Given the description of an element on the screen output the (x, y) to click on. 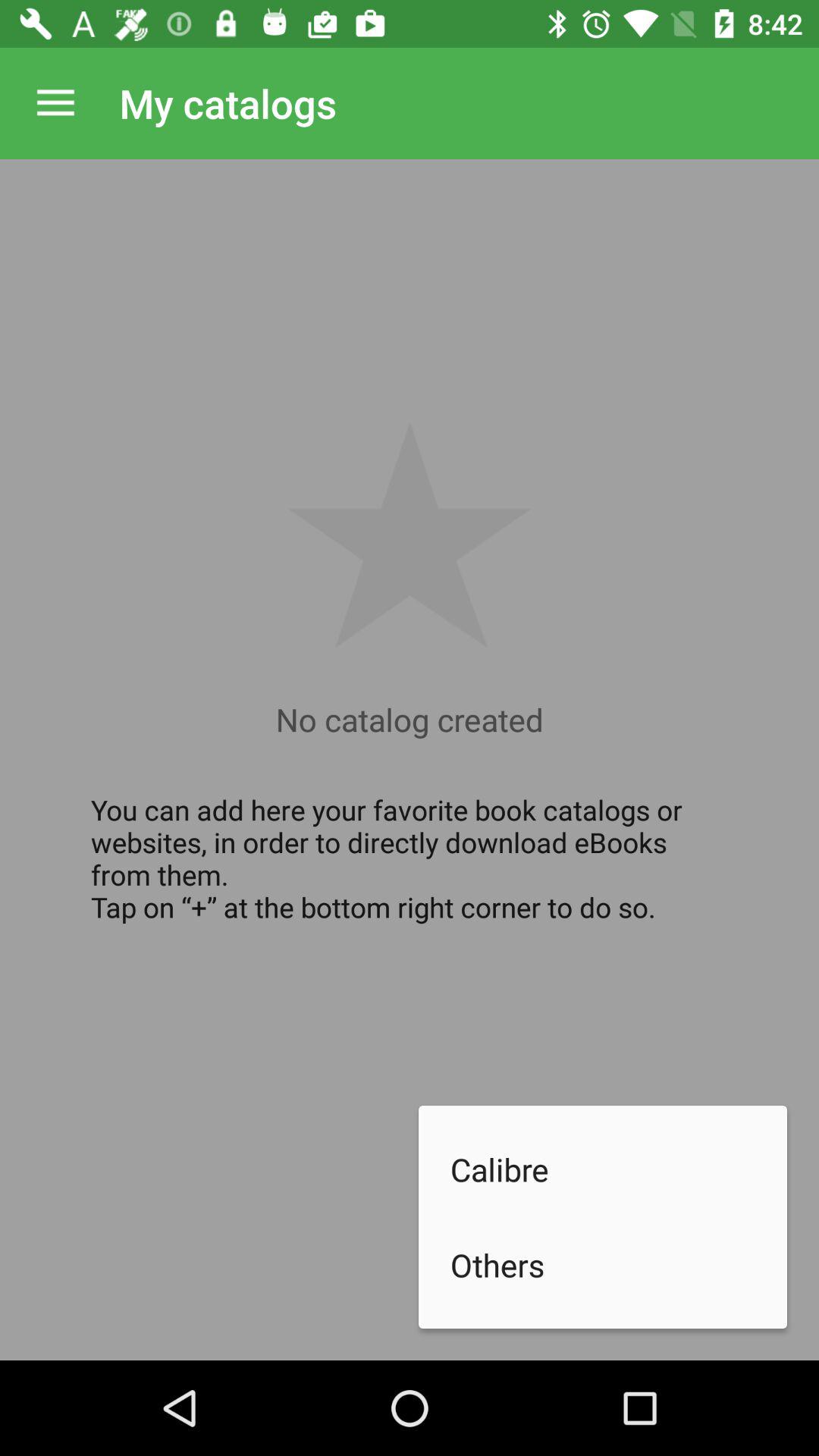
turn on app to the left of my catalogs app (55, 103)
